Given the description of an element on the screen output the (x, y) to click on. 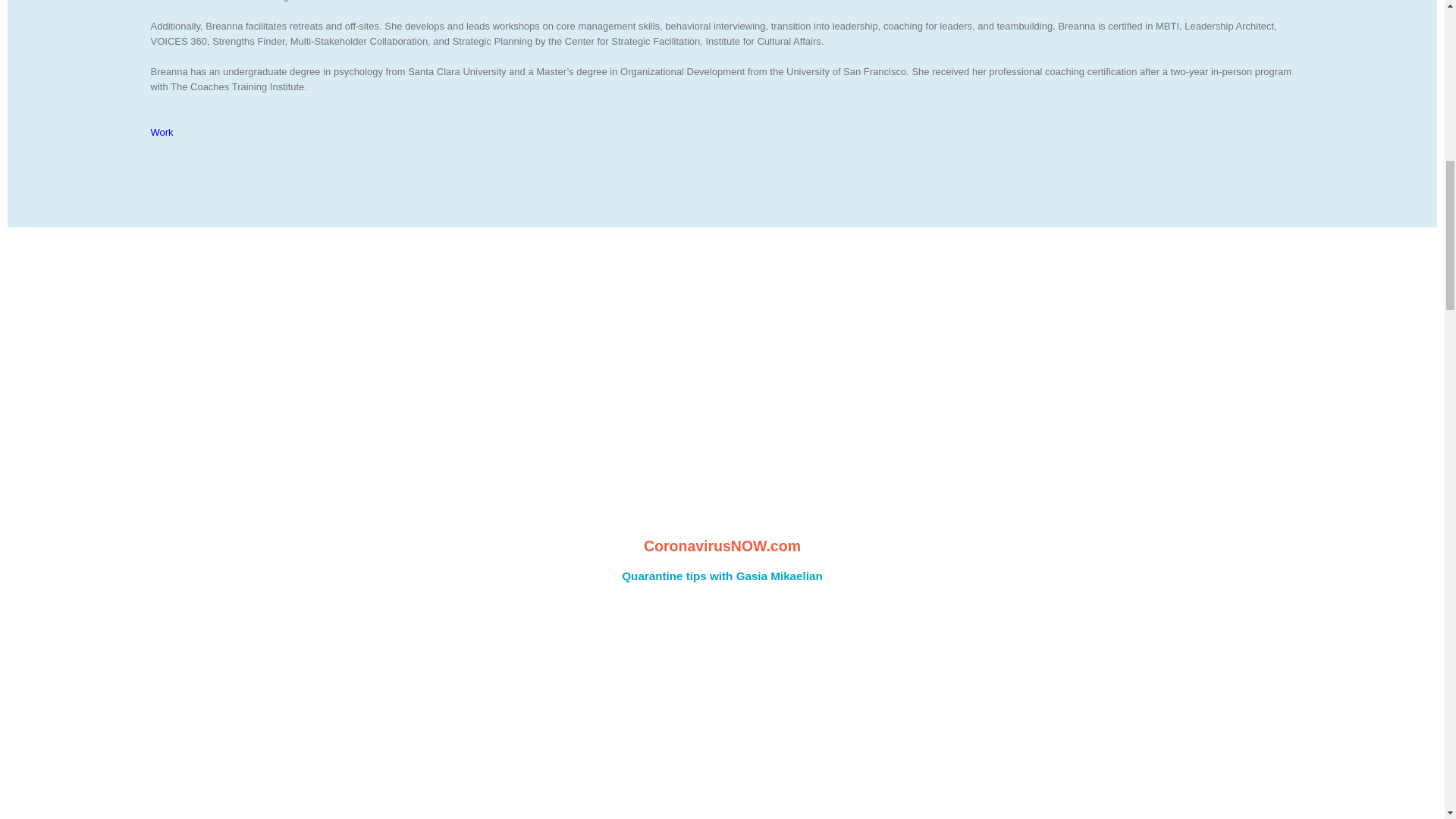
Work (161, 132)
